Given the description of an element on the screen output the (x, y) to click on. 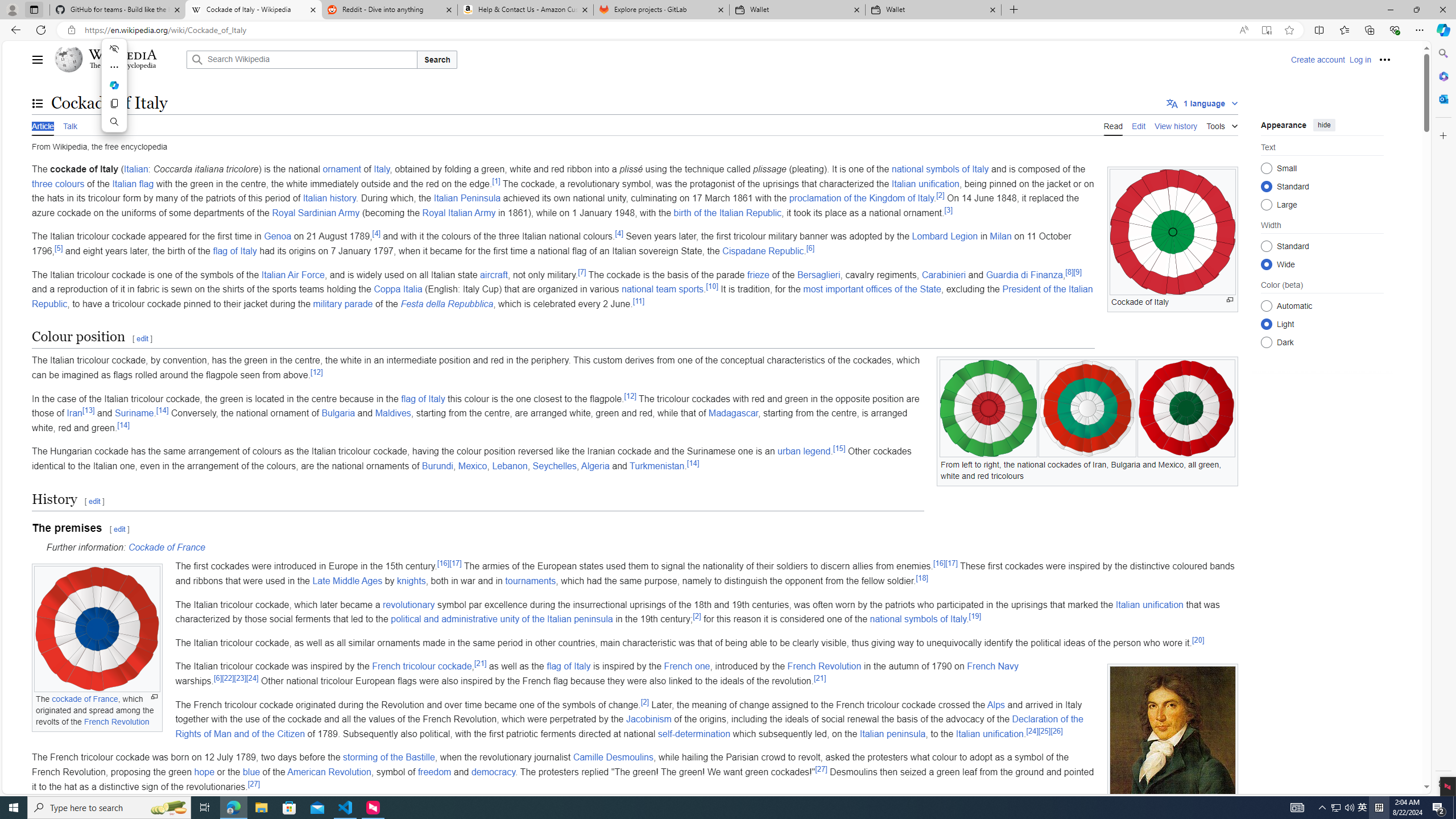
national symbols of Italy (917, 619)
freedom (434, 771)
Dark (1266, 341)
To get missing image descriptions, open the context menu. (1172, 232)
Edit (1138, 124)
Standard (1266, 245)
blue (250, 771)
Mini menu on text selection (113, 91)
Wallet (933, 9)
Class: mw-list-item mw-list-item-js (1321, 323)
Milan (1000, 236)
[9] (1077, 271)
Wikipedia The Free Encyclopedia (117, 59)
Camille Desmoulins (612, 757)
